Given the description of an element on the screen output the (x, y) to click on. 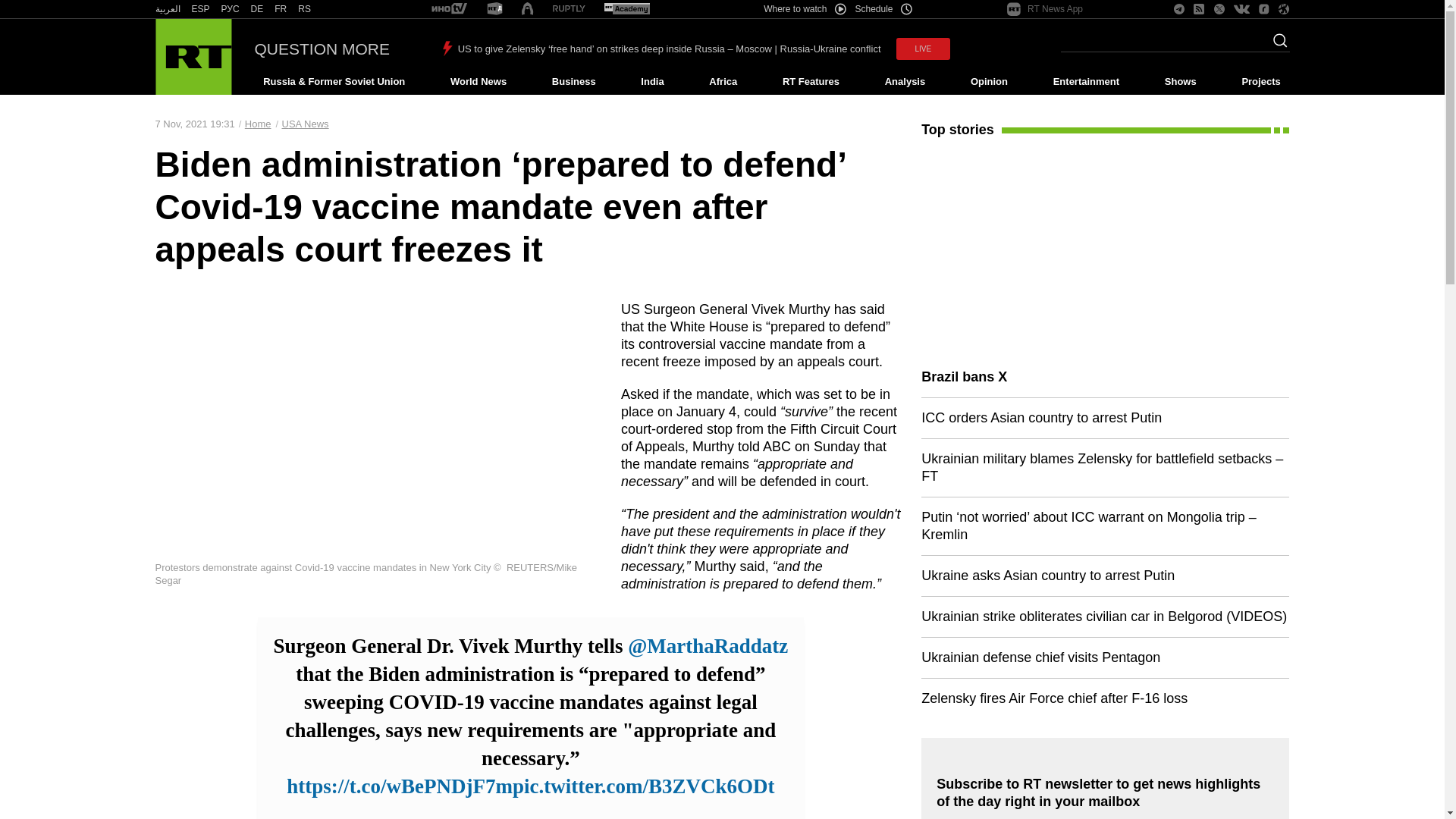
Business (573, 81)
Search (1276, 44)
FR (280, 9)
Shows (1180, 81)
RT  (448, 9)
RT  (569, 8)
RT  (230, 9)
India (651, 81)
RT  (304, 9)
QUESTION MORE (322, 48)
